Given the description of an element on the screen output the (x, y) to click on. 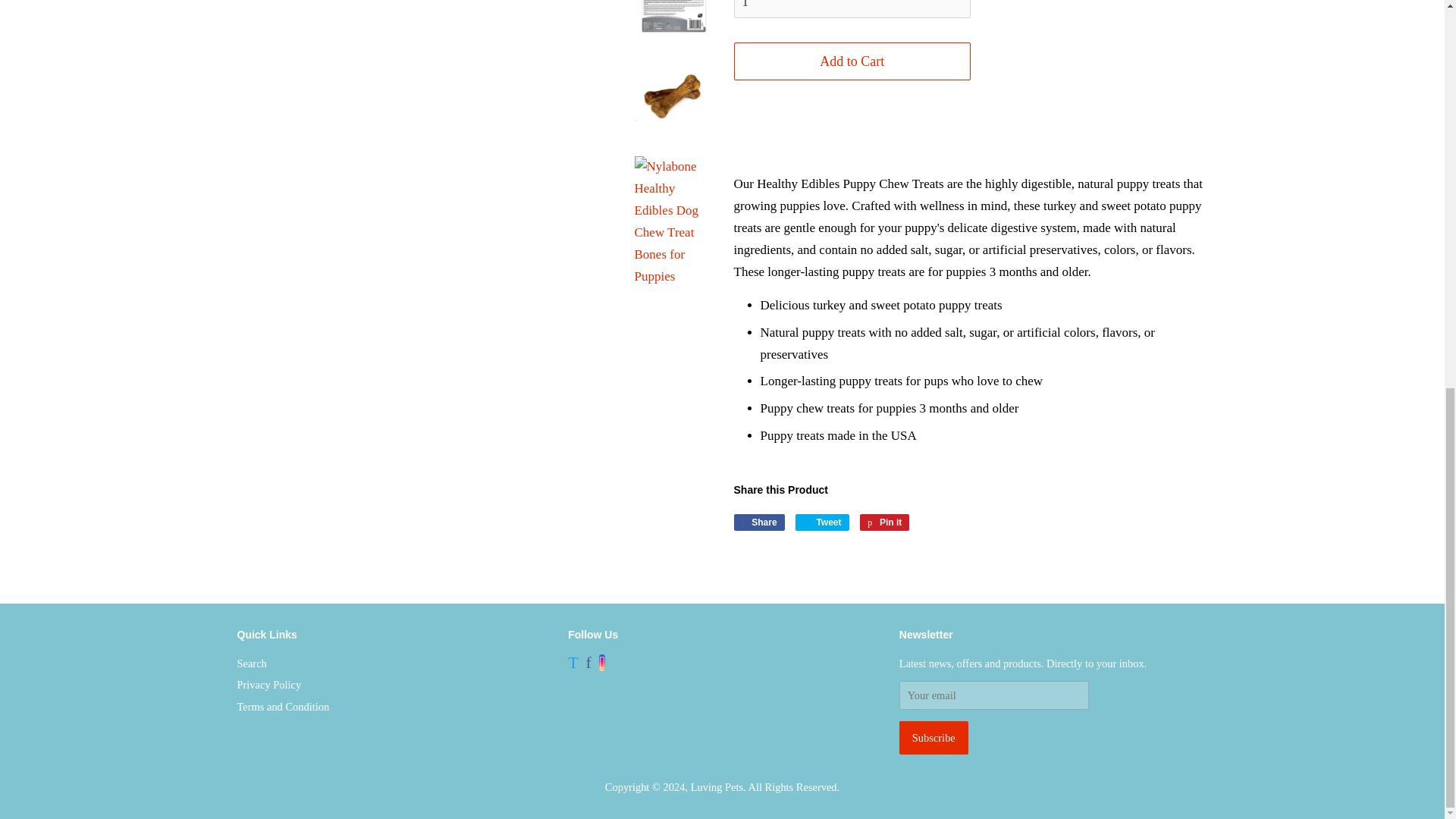
Pin on Pinterest (884, 522)
1 (852, 9)
Share on Facebook (758, 522)
Subscribe (933, 737)
Tweet on Twitter (821, 522)
